Given the description of an element on the screen output the (x, y) to click on. 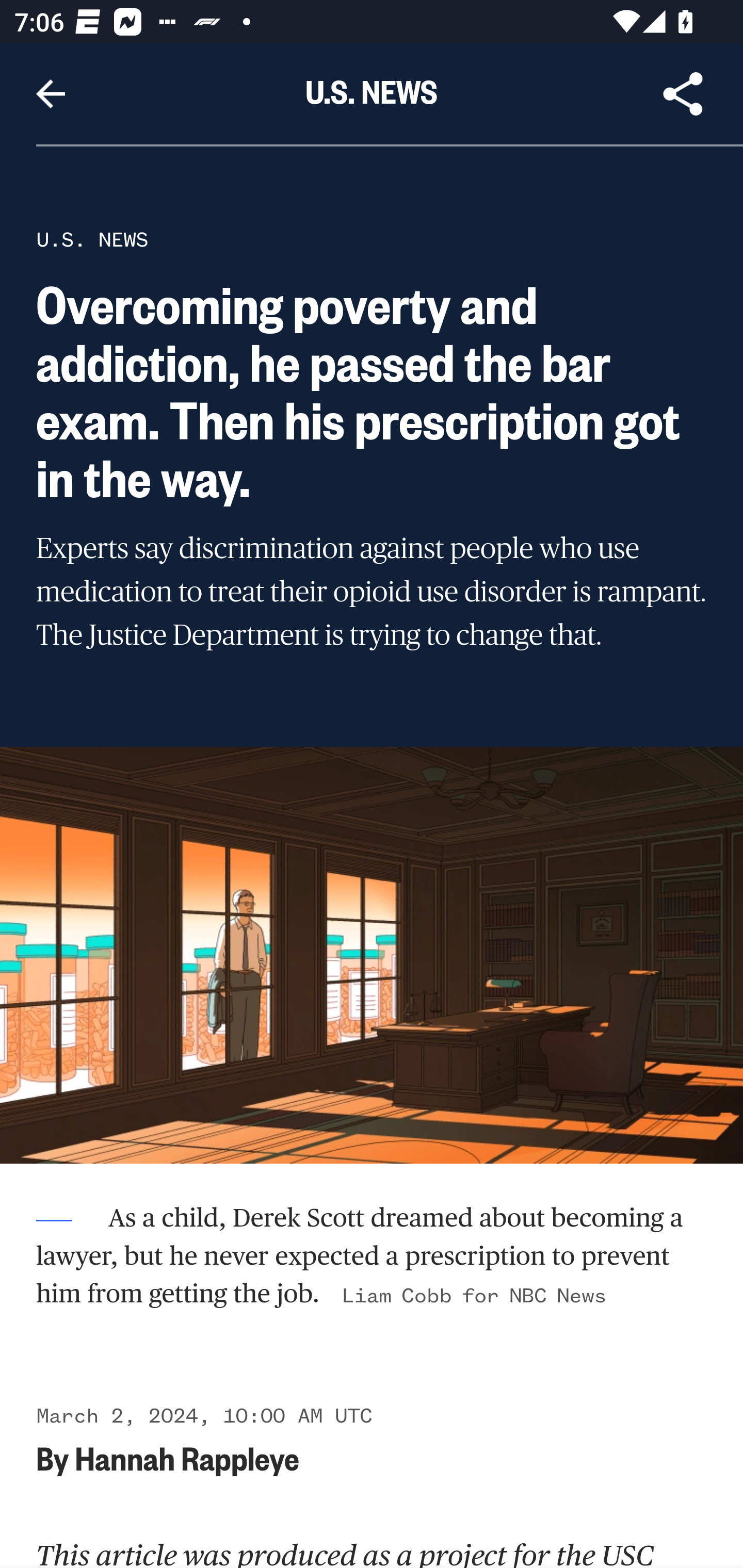
Navigate up (50, 93)
Share Article, button (683, 94)
U.S. NEWS (91, 239)
